Given the description of an element on the screen output the (x, y) to click on. 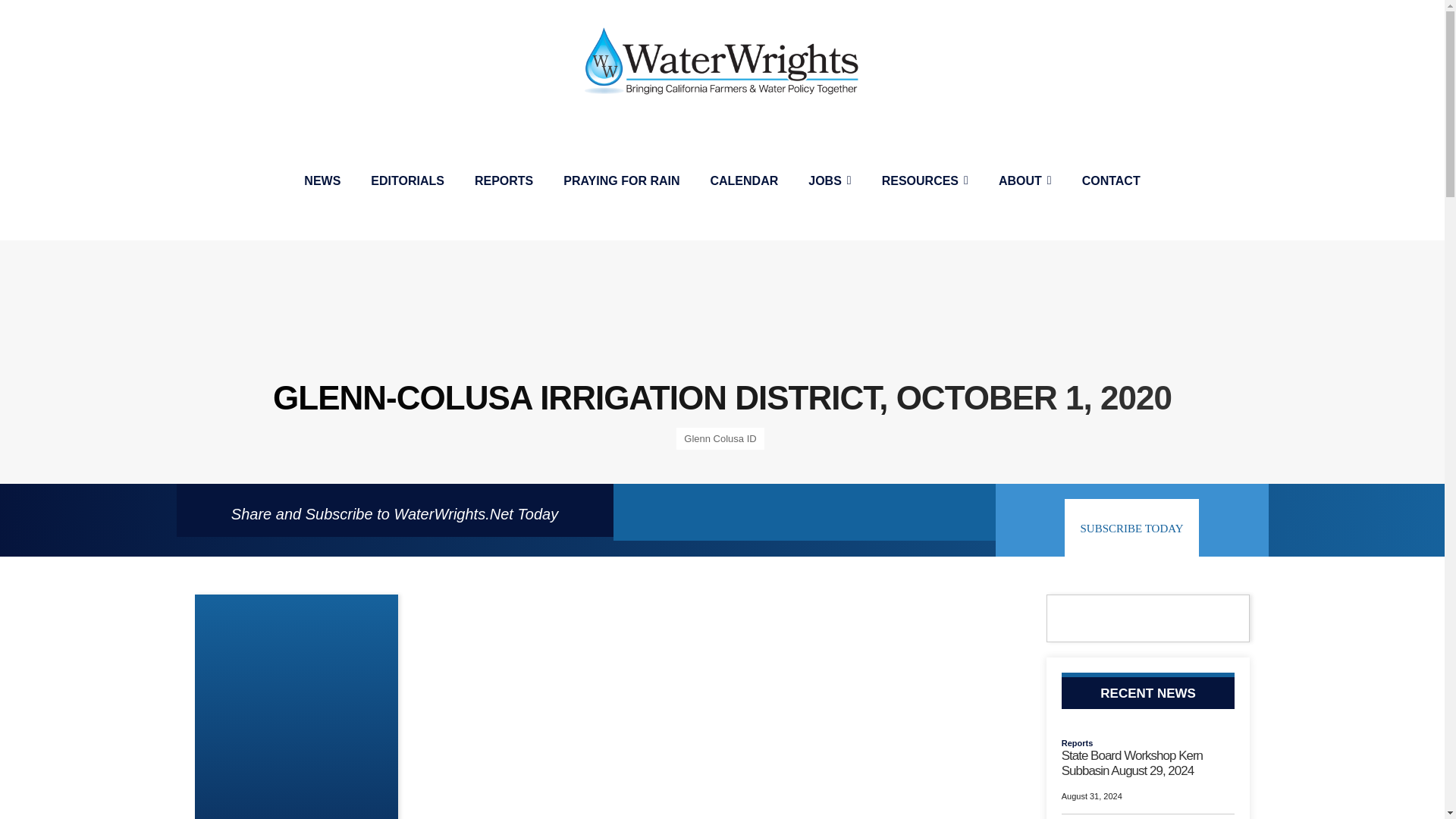
RESOURCES (925, 180)
NEWS (321, 180)
CALENDAR (743, 180)
Welcome to WaterWrights (722, 60)
PRAYING FOR RAIN (621, 180)
REPORTS (504, 180)
EDITORIALS (407, 180)
JOBS (829, 180)
ABOUT (1025, 180)
